Given the description of an element on the screen output the (x, y) to click on. 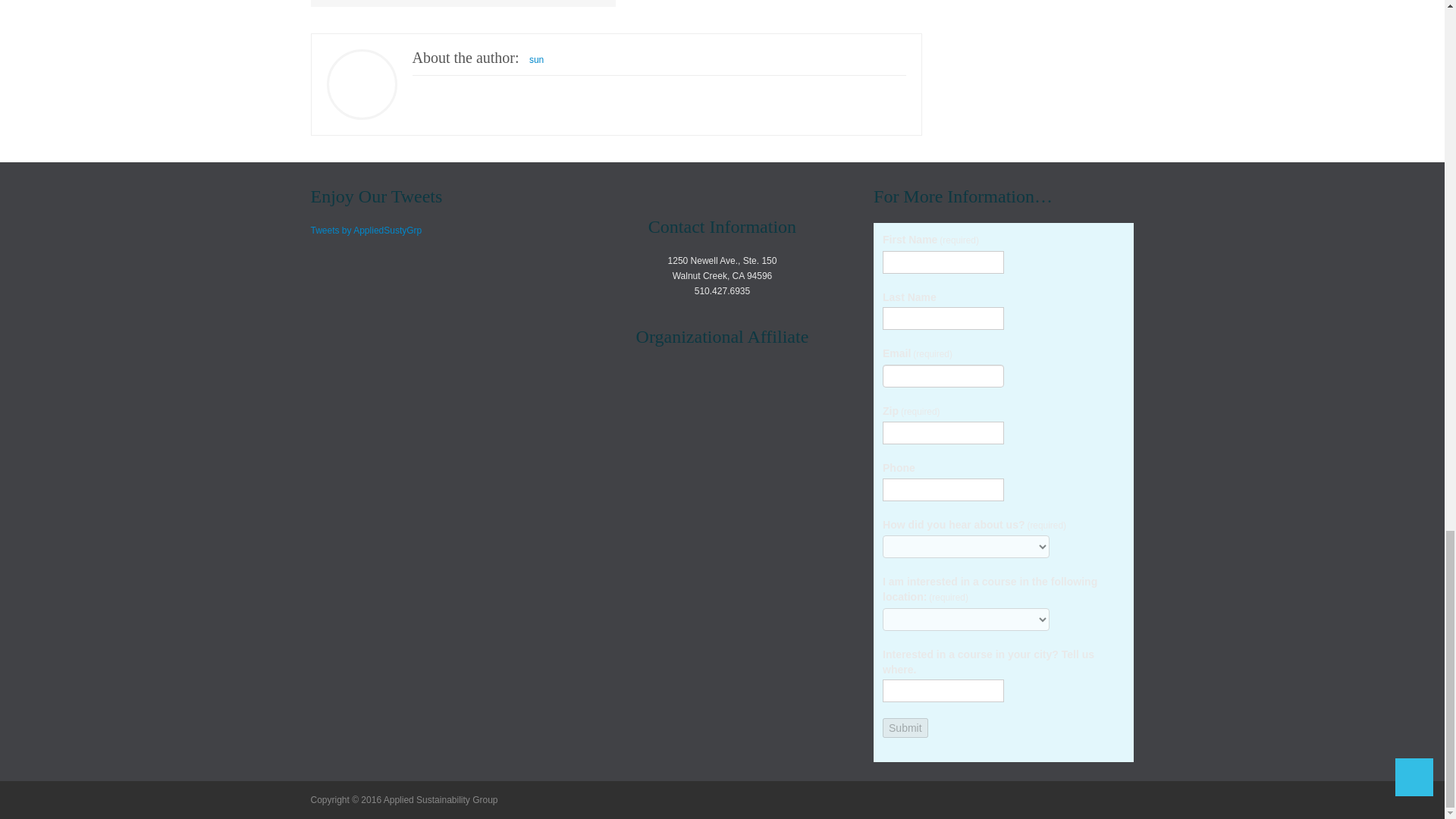
Tweets by AppliedSustyGrp (366, 230)
Submit (905, 727)
sun (536, 59)
Posts by sun (536, 59)
